Given the description of an element on the screen output the (x, y) to click on. 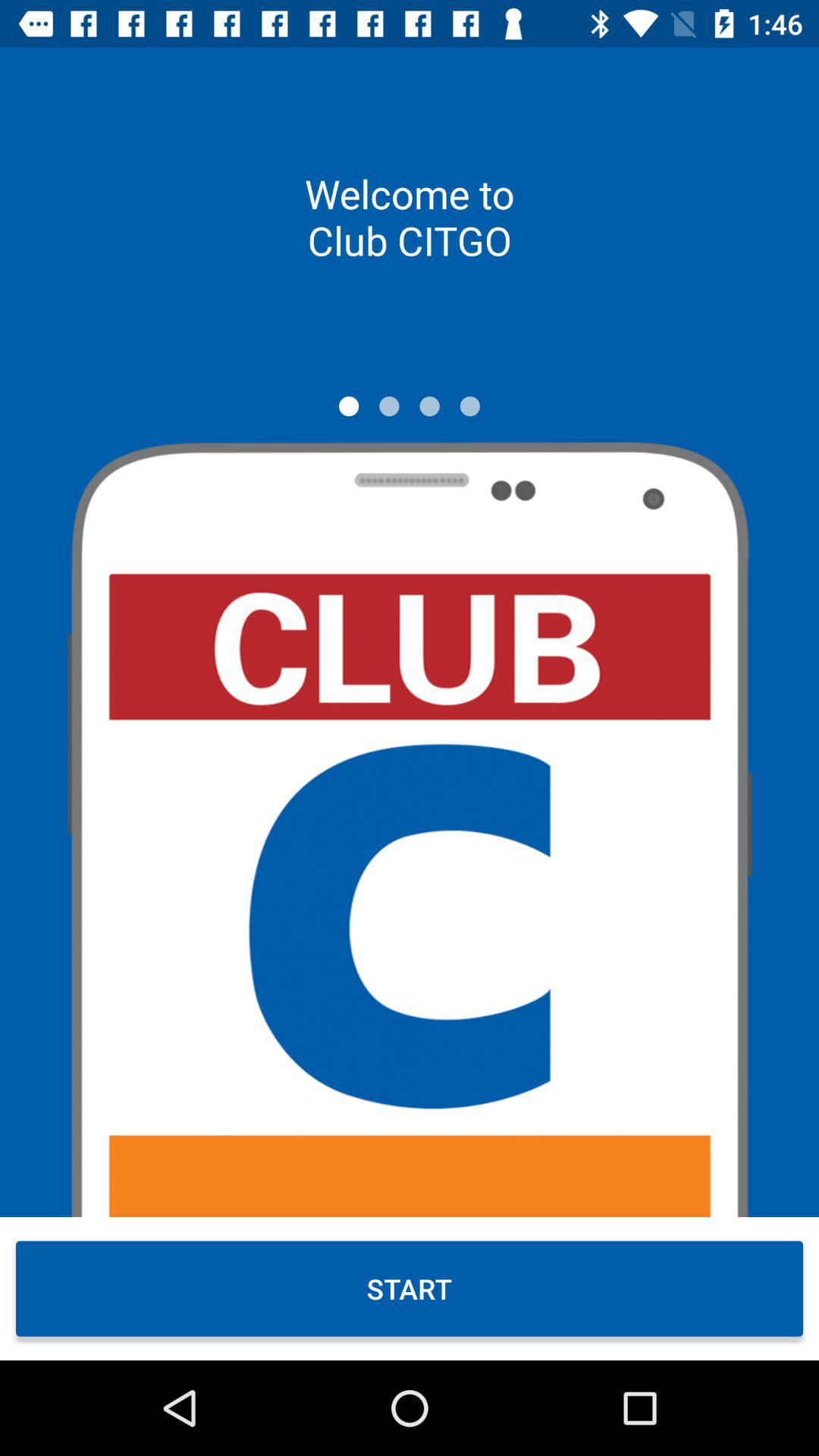
click more information (429, 406)
